Given the description of an element on the screen output the (x, y) to click on. 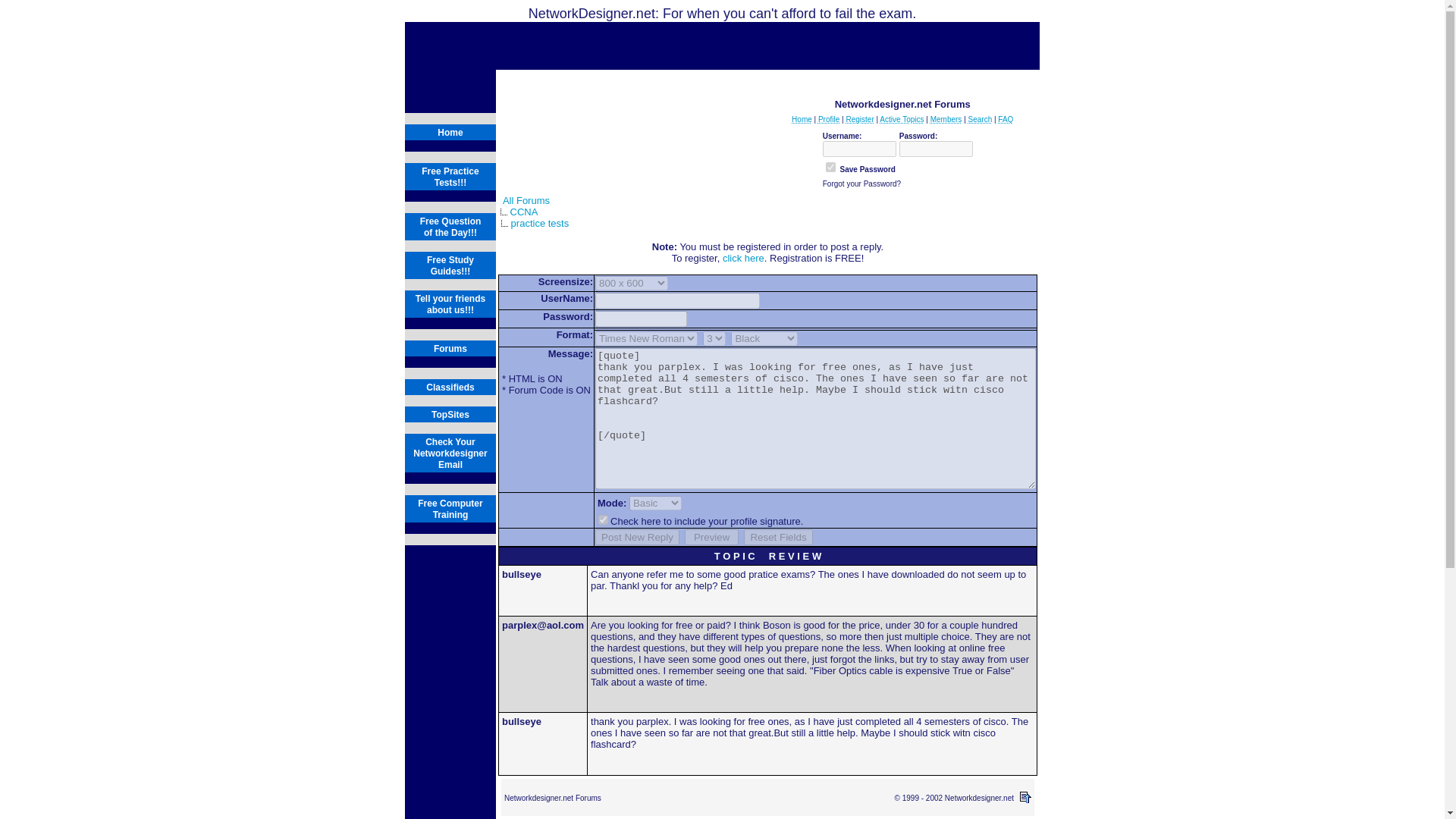
Current members of these forums... (946, 119)
yes (603, 519)
Register (859, 119)
Post New Reply (637, 537)
FAQ (1005, 119)
Homepage (802, 119)
Reset Fields (778, 537)
Profile (829, 119)
Register to post to our forum... (859, 119)
See what topics have been active since your last visit... (901, 119)
Forums (450, 348)
Search (980, 119)
 Preview  (711, 537)
Edit your personal profile... (829, 119)
